Given the description of an element on the screen output the (x, y) to click on. 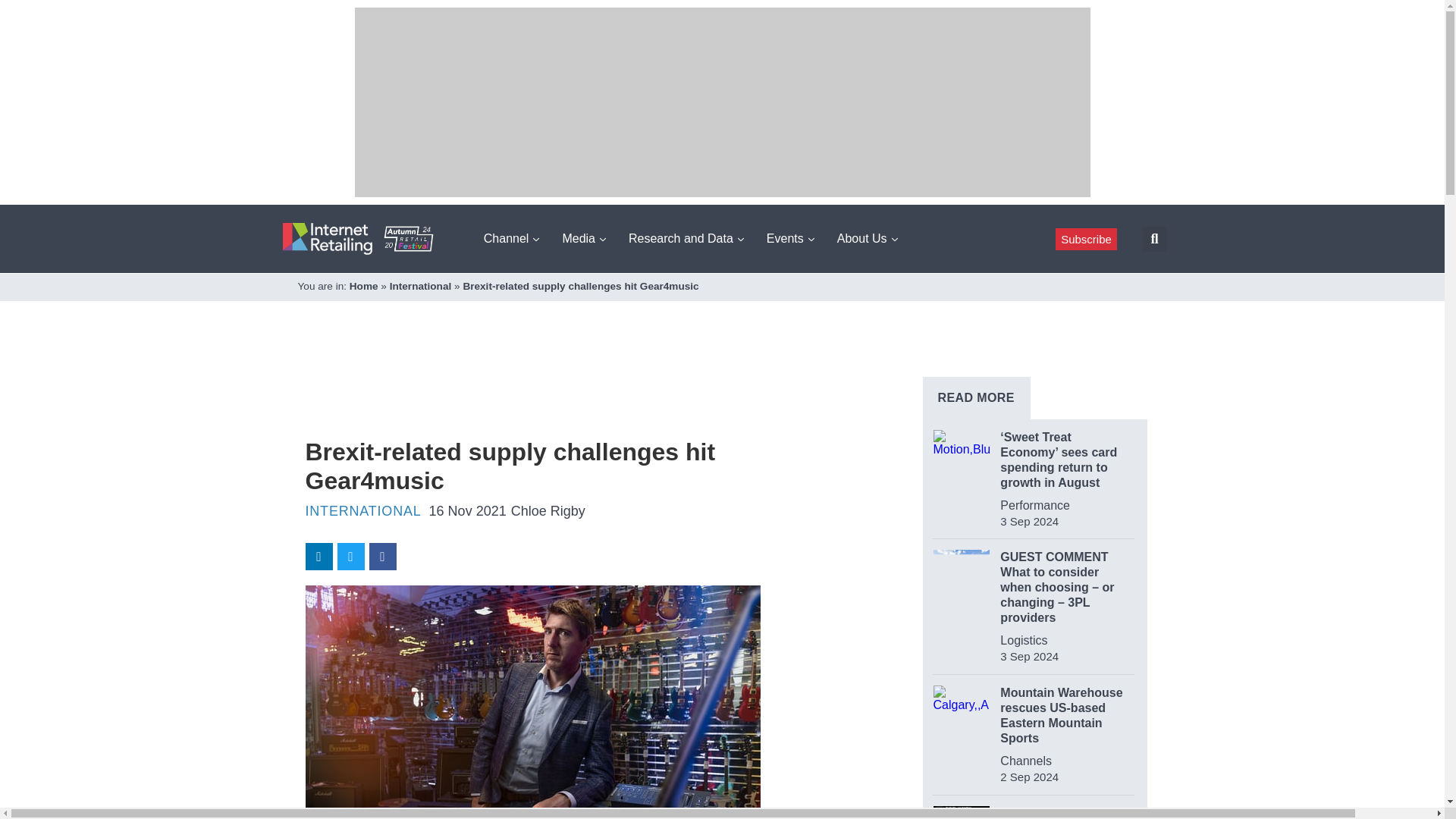
Channel (511, 238)
Media (583, 238)
Research and Data (686, 238)
